Given the description of an element on the screen output the (x, y) to click on. 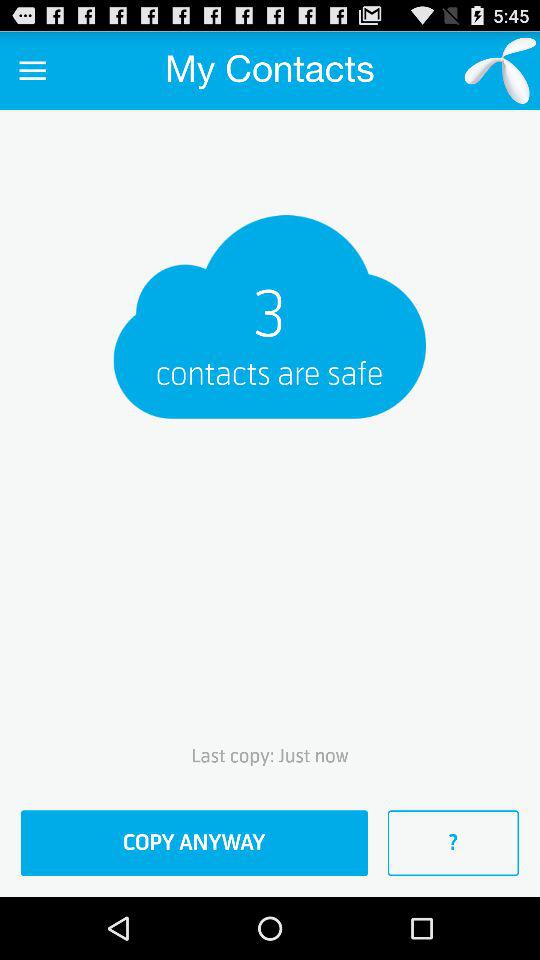
select the item to the right of the copy anyway (453, 843)
